Given the description of an element on the screen output the (x, y) to click on. 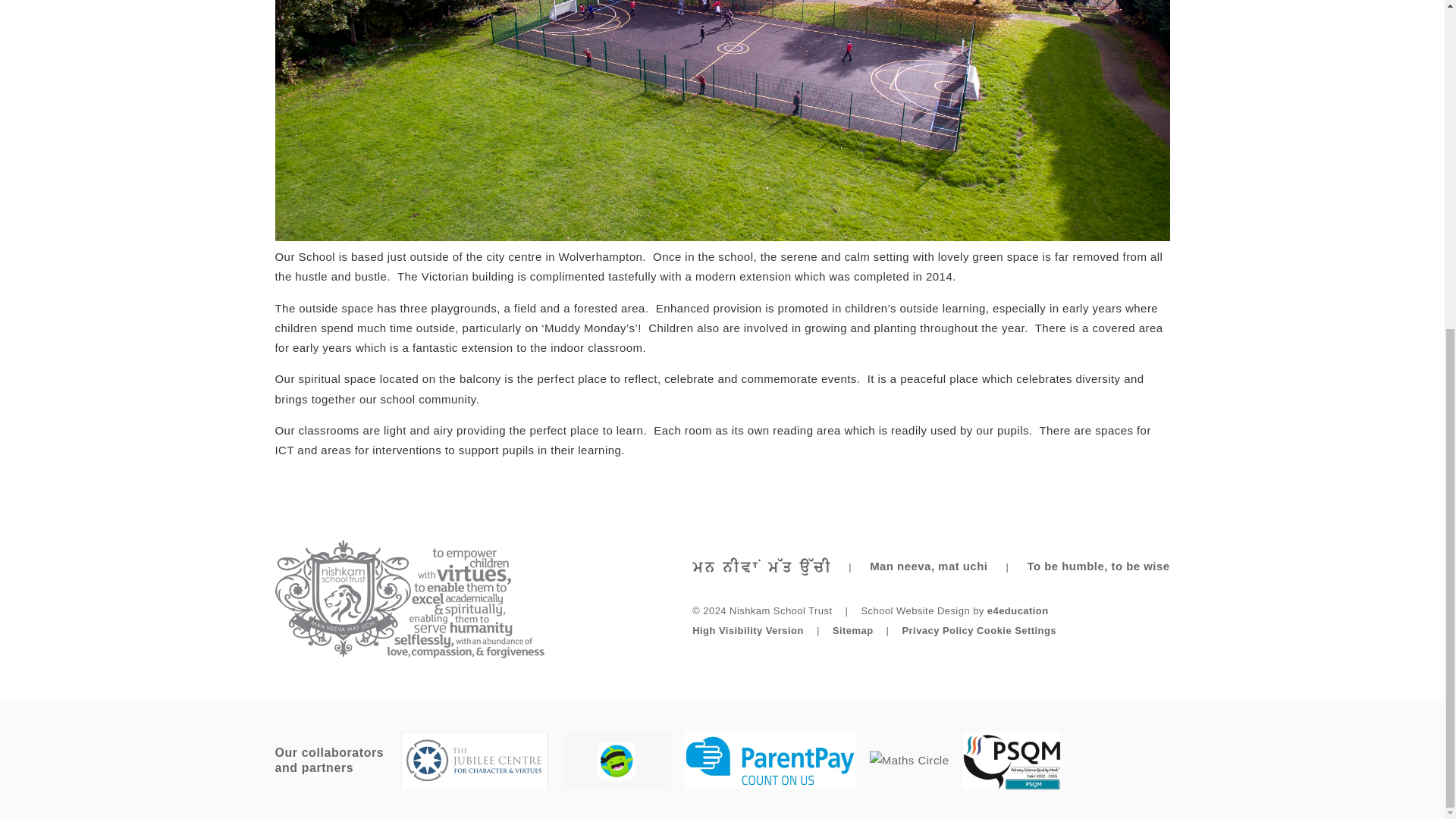
Cookie Settings (1016, 630)
